Given the description of an element on the screen output the (x, y) to click on. 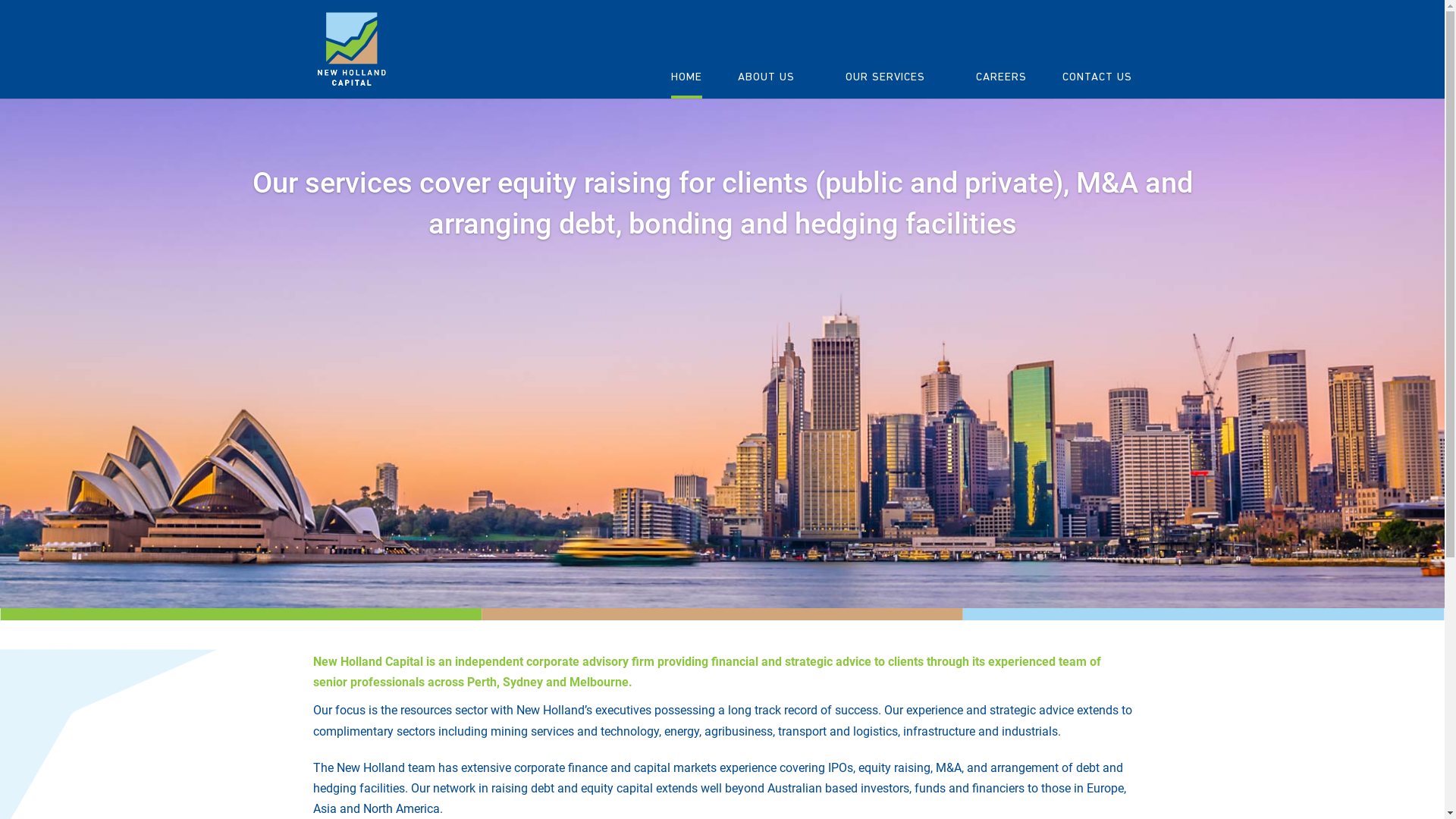
CONTACT US Element type: text (1096, 70)
HOME Element type: text (685, 70)
CAREERS Element type: text (1000, 70)
ABOUT US Element type: text (773, 70)
OUR SERVICES Element type: text (891, 70)
